Given the description of an element on the screen output the (x, y) to click on. 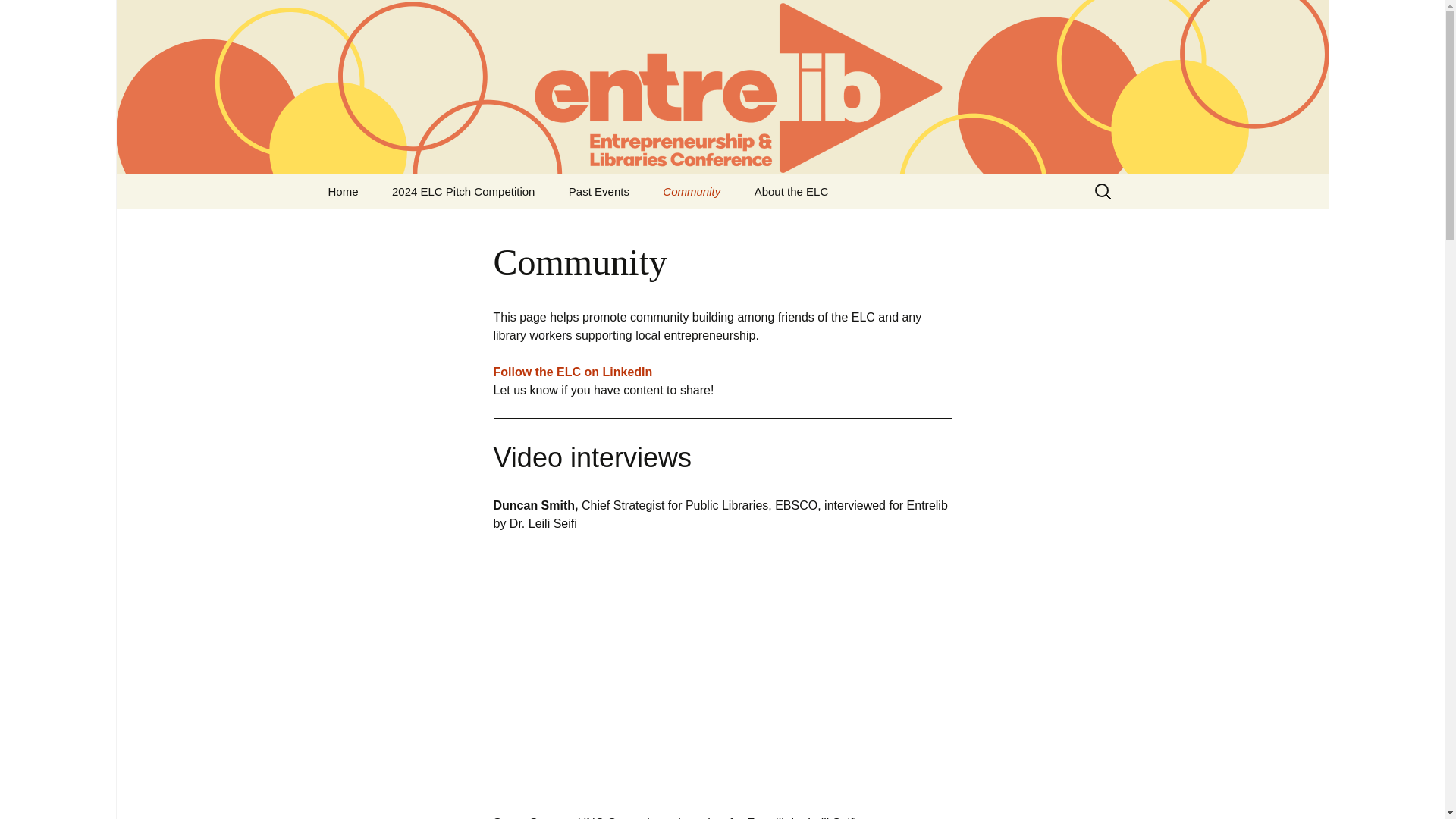
2024 ELC Pitch Competition (463, 191)
Past Events (599, 191)
About the ELC (791, 191)
Home (342, 191)
Follow the ELC on LinkedIn (572, 371)
Search (34, 15)
Community (691, 191)
